Given the description of an element on the screen output the (x, y) to click on. 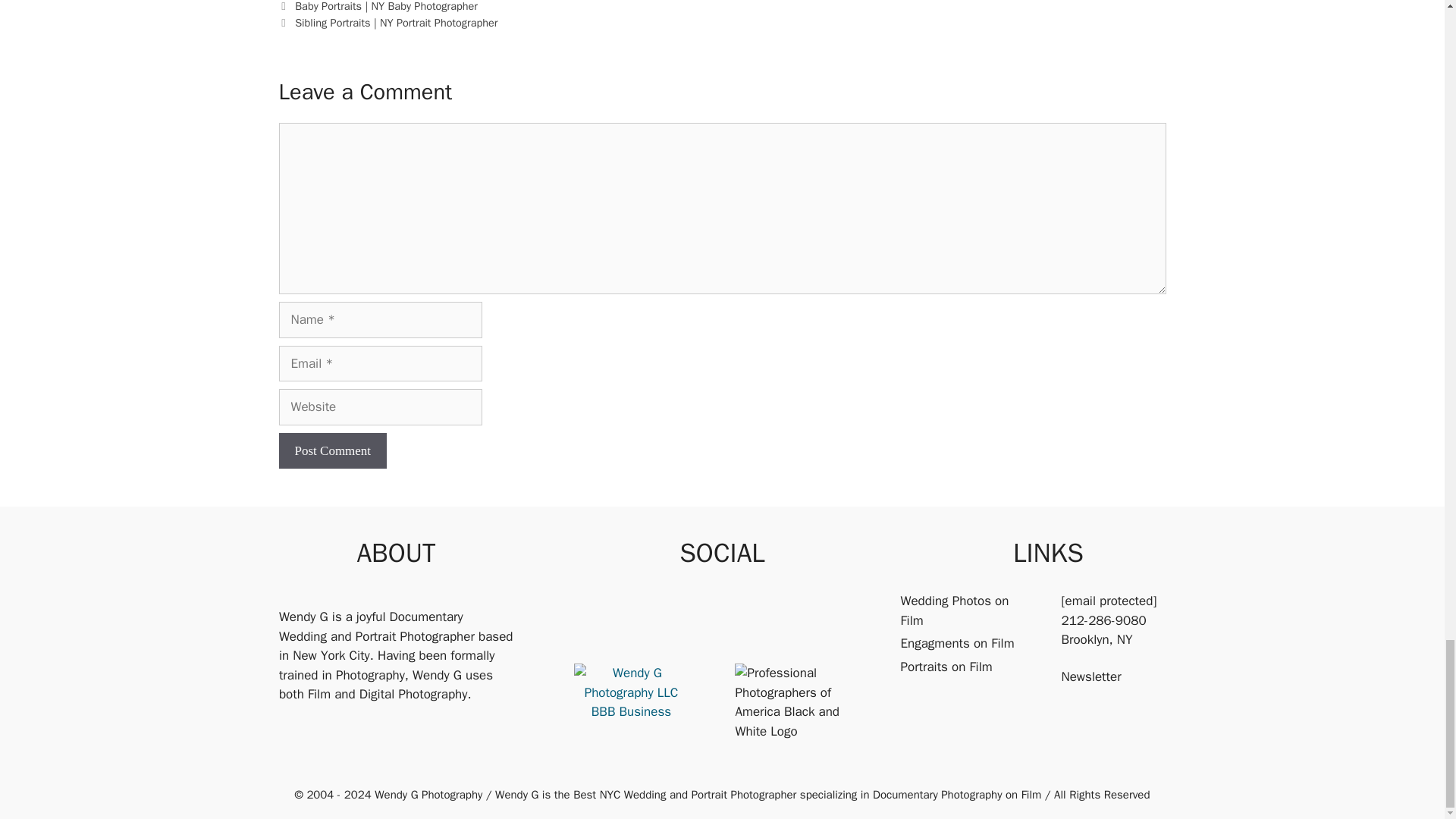
Post Comment (333, 451)
